Given the description of an element on the screen output the (x, y) to click on. 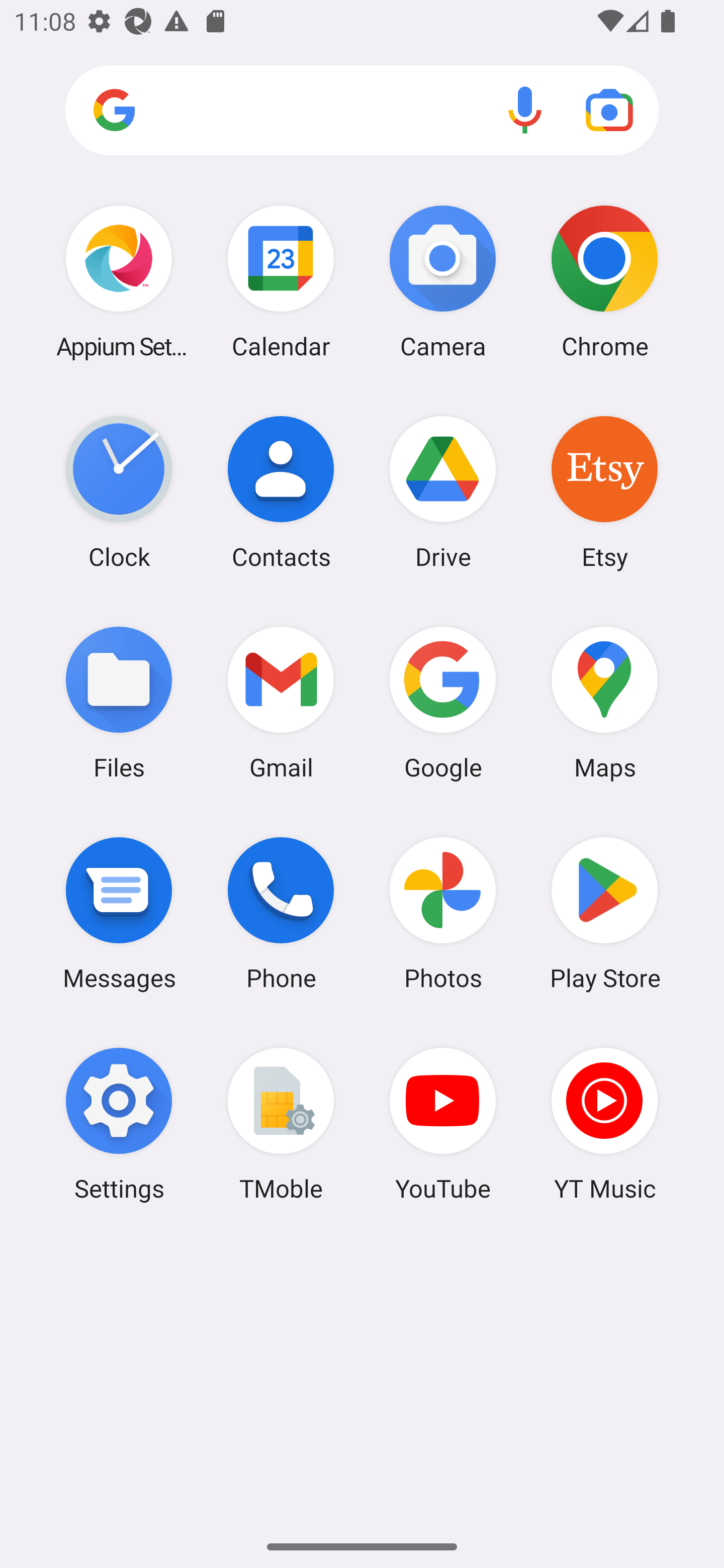
Search apps, web and more (361, 110)
Voice search (524, 109)
Google Lens (608, 109)
Appium Settings (118, 281)
Calendar (280, 281)
Camera (443, 281)
Chrome (604, 281)
Clock (118, 492)
Contacts (280, 492)
Drive (443, 492)
Etsy (604, 492)
Files (118, 702)
Gmail (280, 702)
Google (443, 702)
Maps (604, 702)
Messages (118, 913)
Phone (280, 913)
Photos (443, 913)
Play Store (604, 913)
Settings (118, 1124)
TMoble (280, 1124)
YouTube (443, 1124)
YT Music (604, 1124)
